Given the description of an element on the screen output the (x, y) to click on. 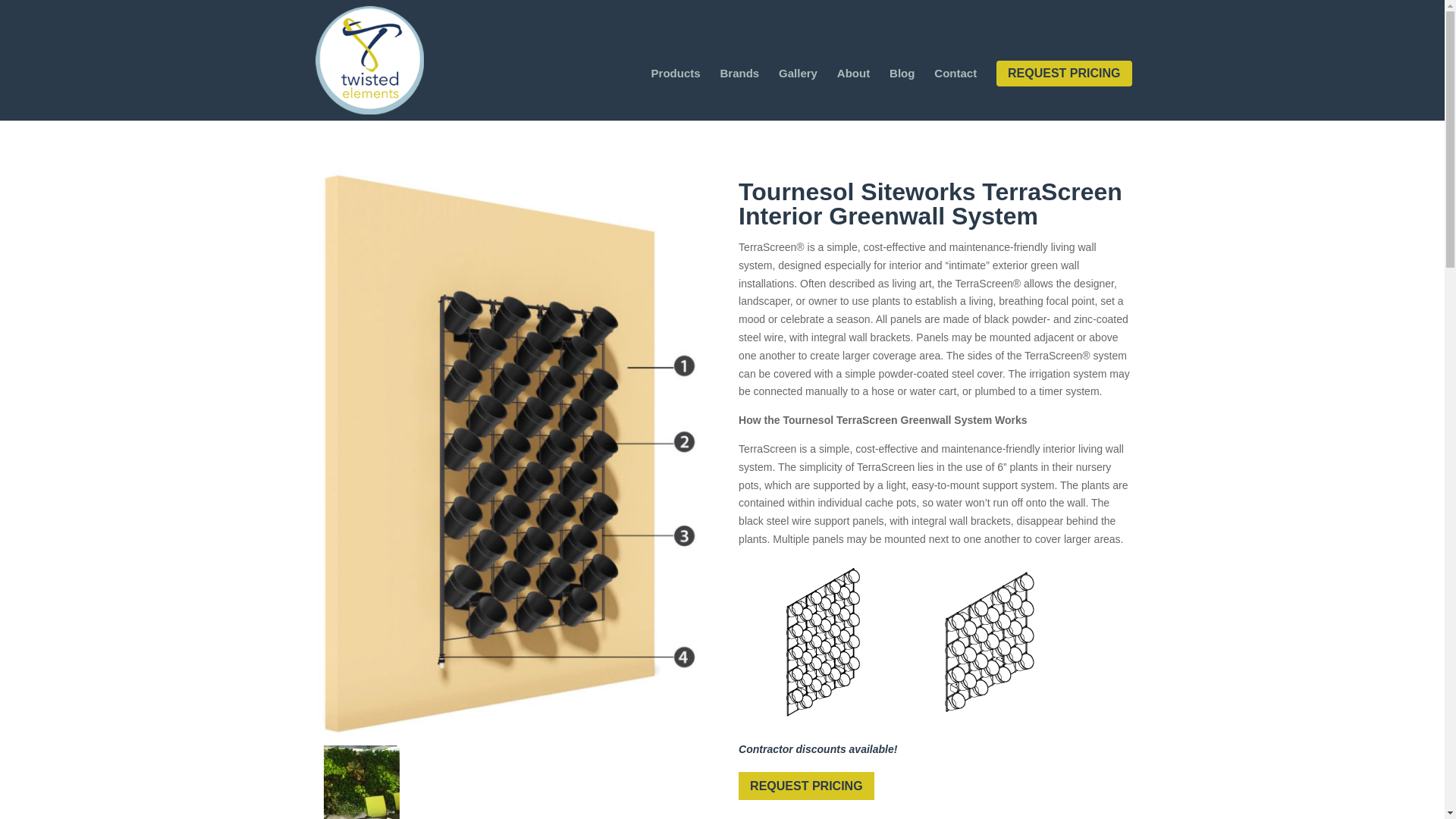
TerraScreen Interior Greenwall System (360, 782)
REQUEST PRICING (1063, 73)
Products (675, 93)
